Given the description of an element on the screen output the (x, y) to click on. 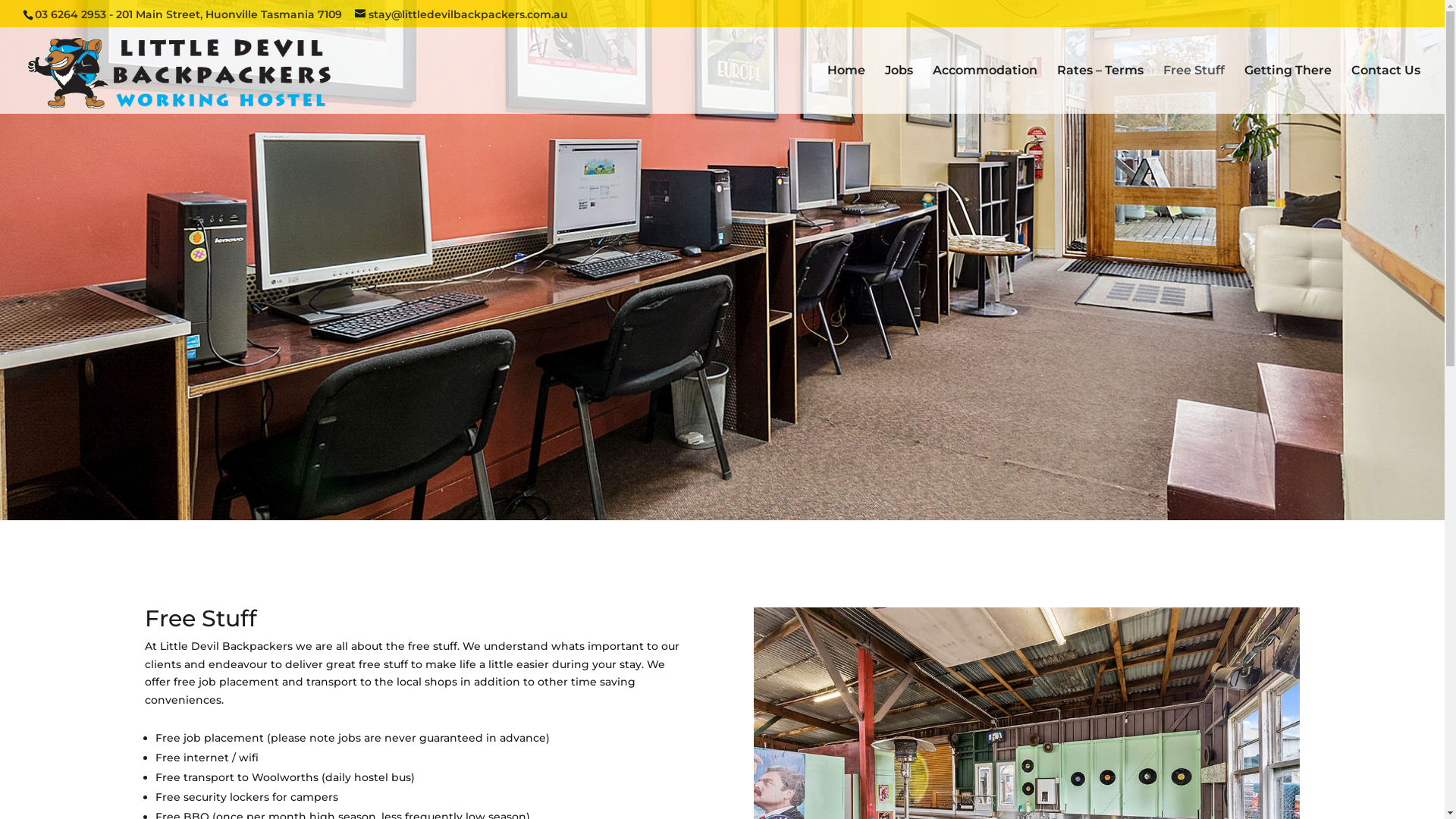
Getting There Element type: text (1287, 89)
Accommodation Element type: text (984, 89)
Jobs Element type: text (898, 89)
Contact Us Element type: text (1385, 89)
Home Element type: text (846, 89)
stay@littledevilbackpackers.com.au Element type: text (460, 14)
Free Stuff Element type: text (1193, 89)
03 6264 2953 Element type: text (70, 14)
